Given the description of an element on the screen output the (x, y) to click on. 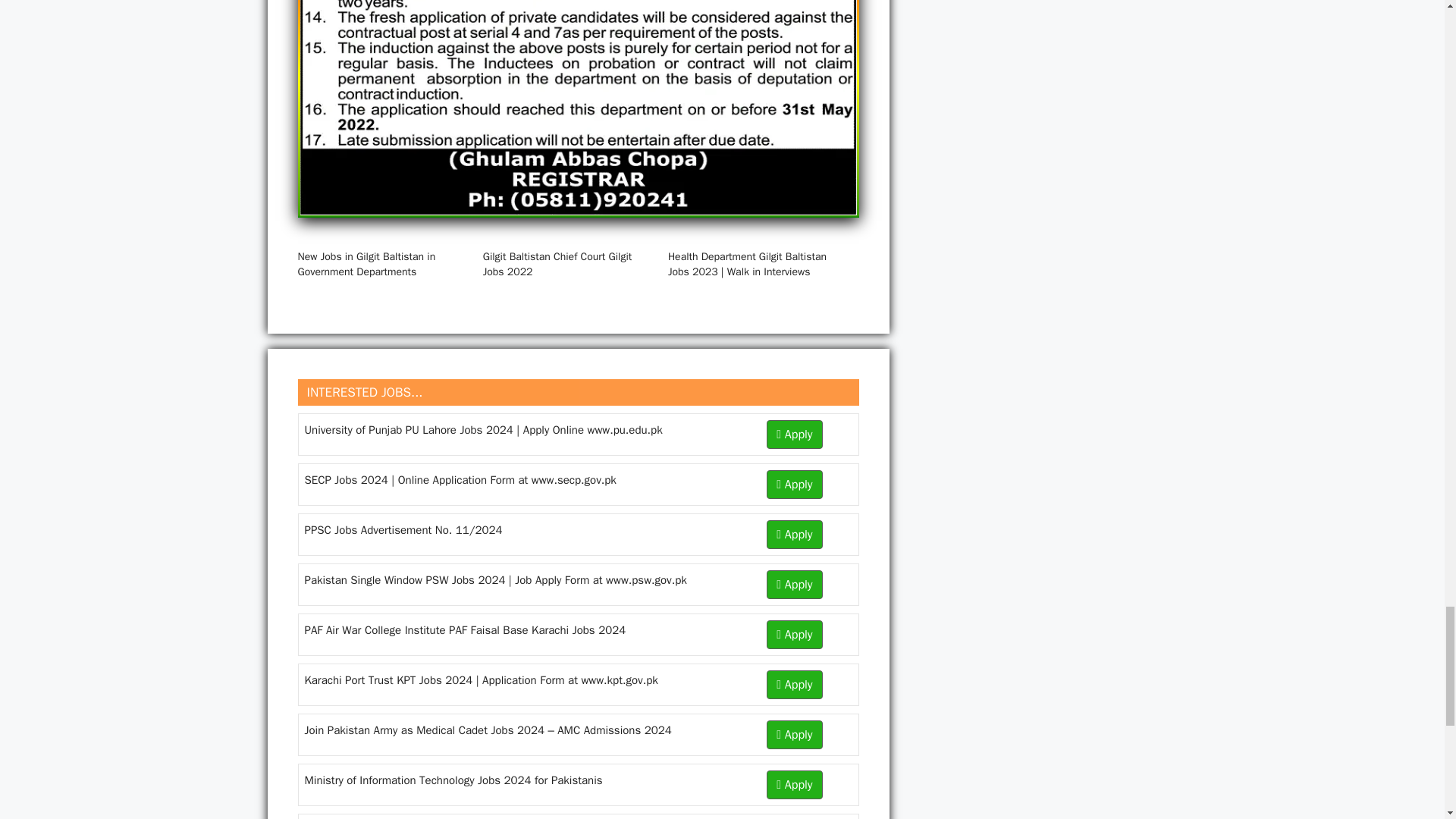
Apply (794, 734)
New Jobs in Gilgit Baltistan in Government Departments (366, 264)
Apply (794, 484)
Apply (794, 534)
Apply (794, 634)
Gilgit Baltistan Chief Court Gilgit Jobs 2022 (557, 264)
Apply (794, 684)
Apply (794, 584)
Gilgit Baltistan Chief Court Gilgit Jobs 2022 (557, 264)
